Given the description of an element on the screen output the (x, y) to click on. 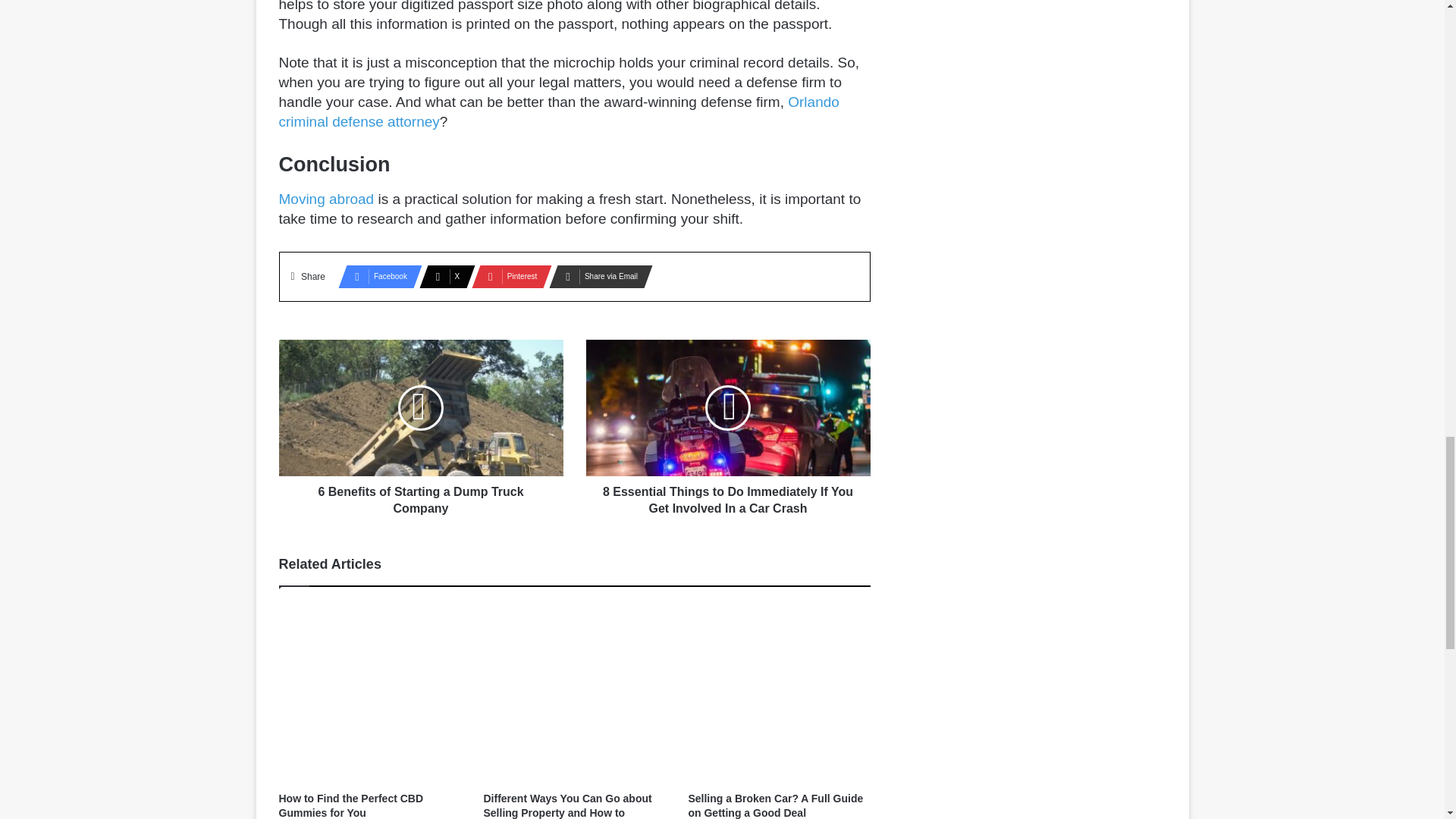
Share via Email (595, 276)
X (442, 276)
Pinterest (507, 276)
Facebook (375, 276)
